Given the description of an element on the screen output the (x, y) to click on. 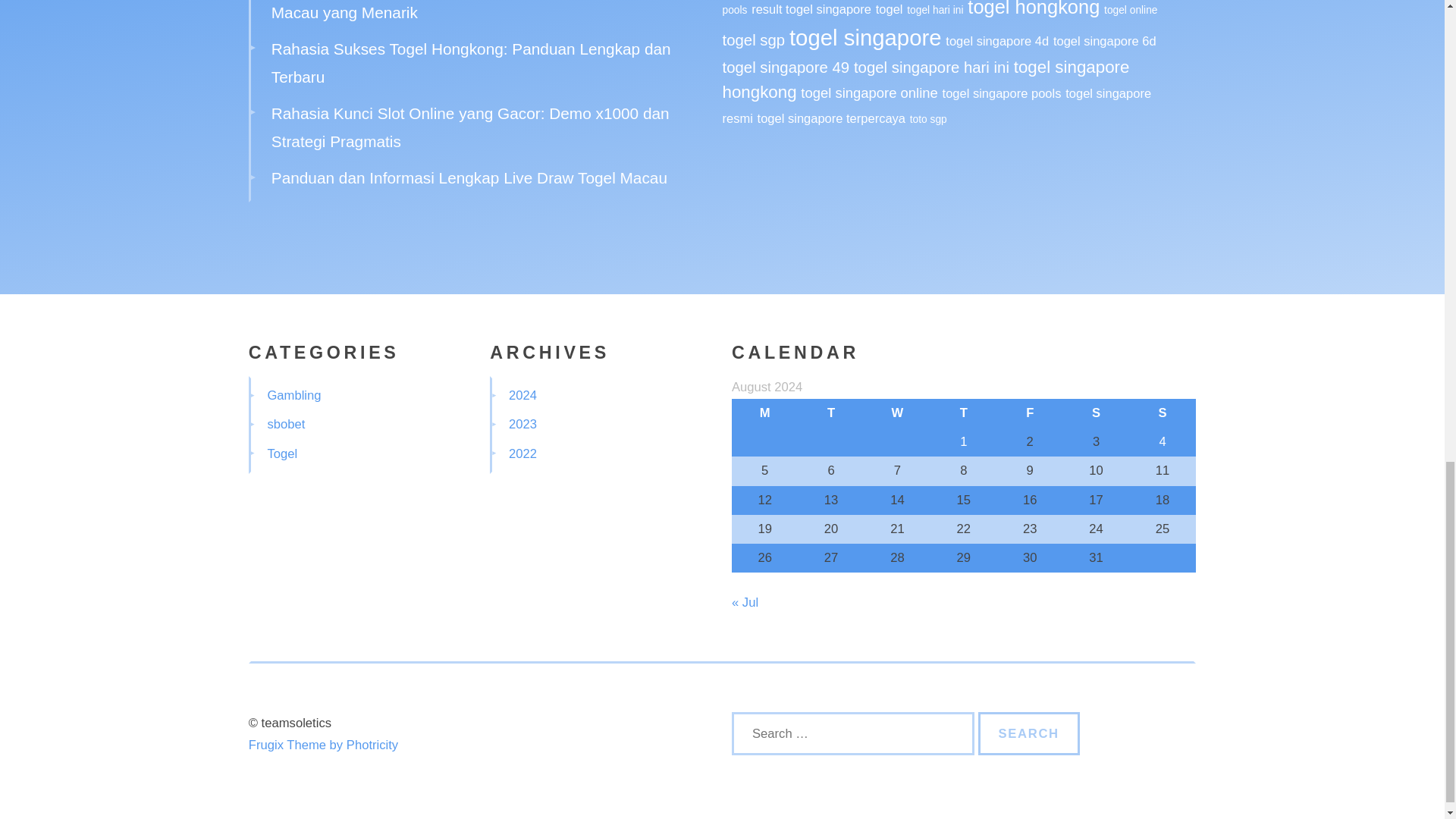
Rahasia Sukses Togel Hongkong: Panduan Lengkap dan Terbaru (470, 62)
Sunday (1162, 412)
Search (1029, 733)
Friday (1029, 412)
Saturday (1095, 412)
Panduan dan Informasi Lengkap Live Draw Togel Macau (468, 177)
Monday (764, 412)
Thursday (962, 412)
Search (1029, 733)
Tuesday (830, 412)
Wednesday (897, 412)
